Given the description of an element on the screen output the (x, y) to click on. 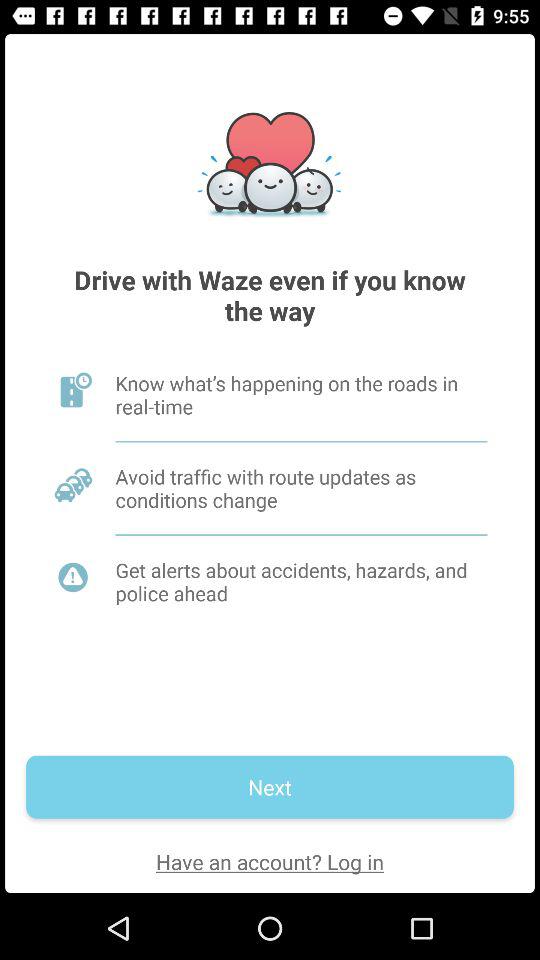
open the have an account (270, 861)
